Given the description of an element on the screen output the (x, y) to click on. 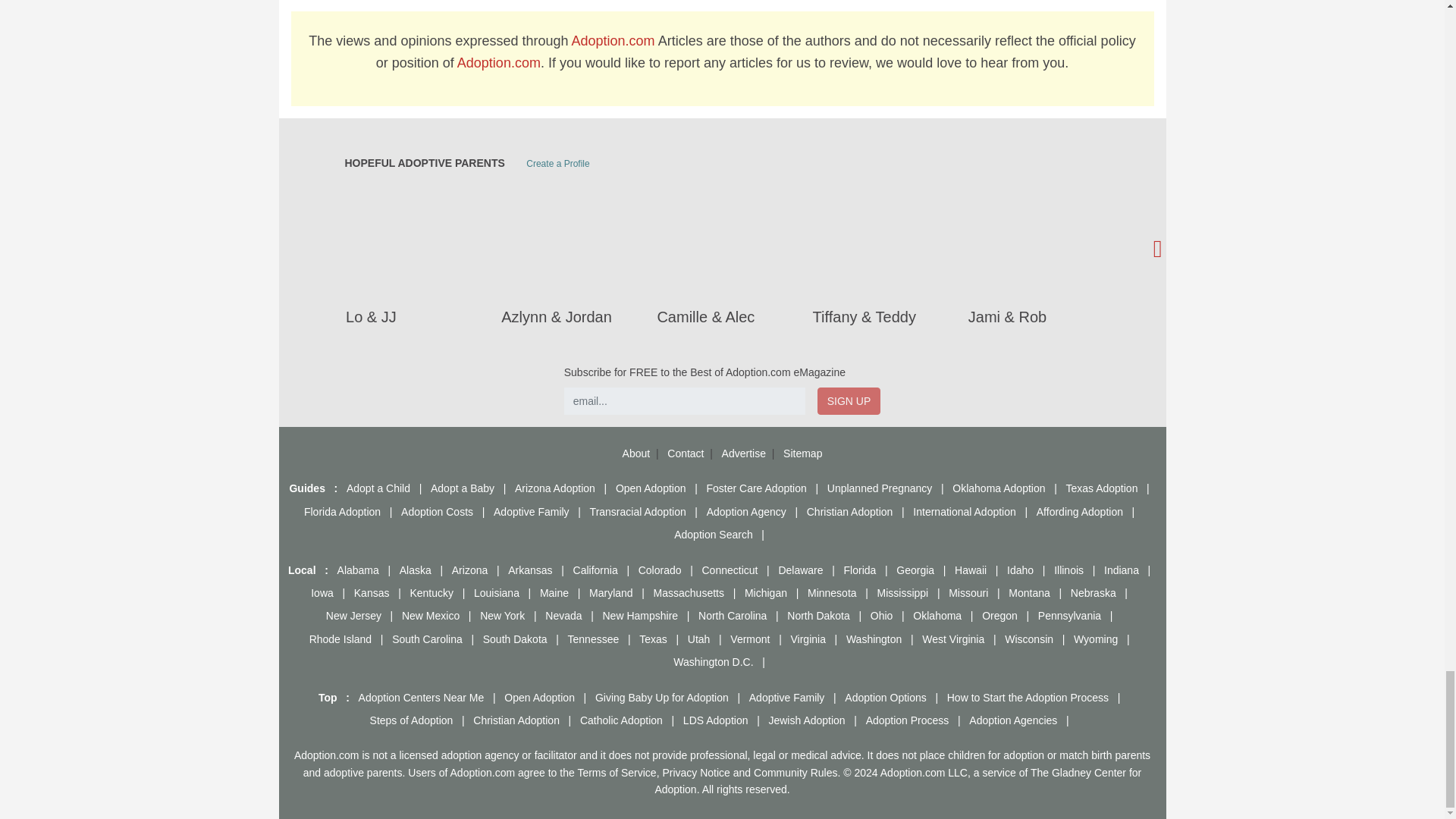
SIGN UP (848, 400)
